Given the description of an element on the screen output the (x, y) to click on. 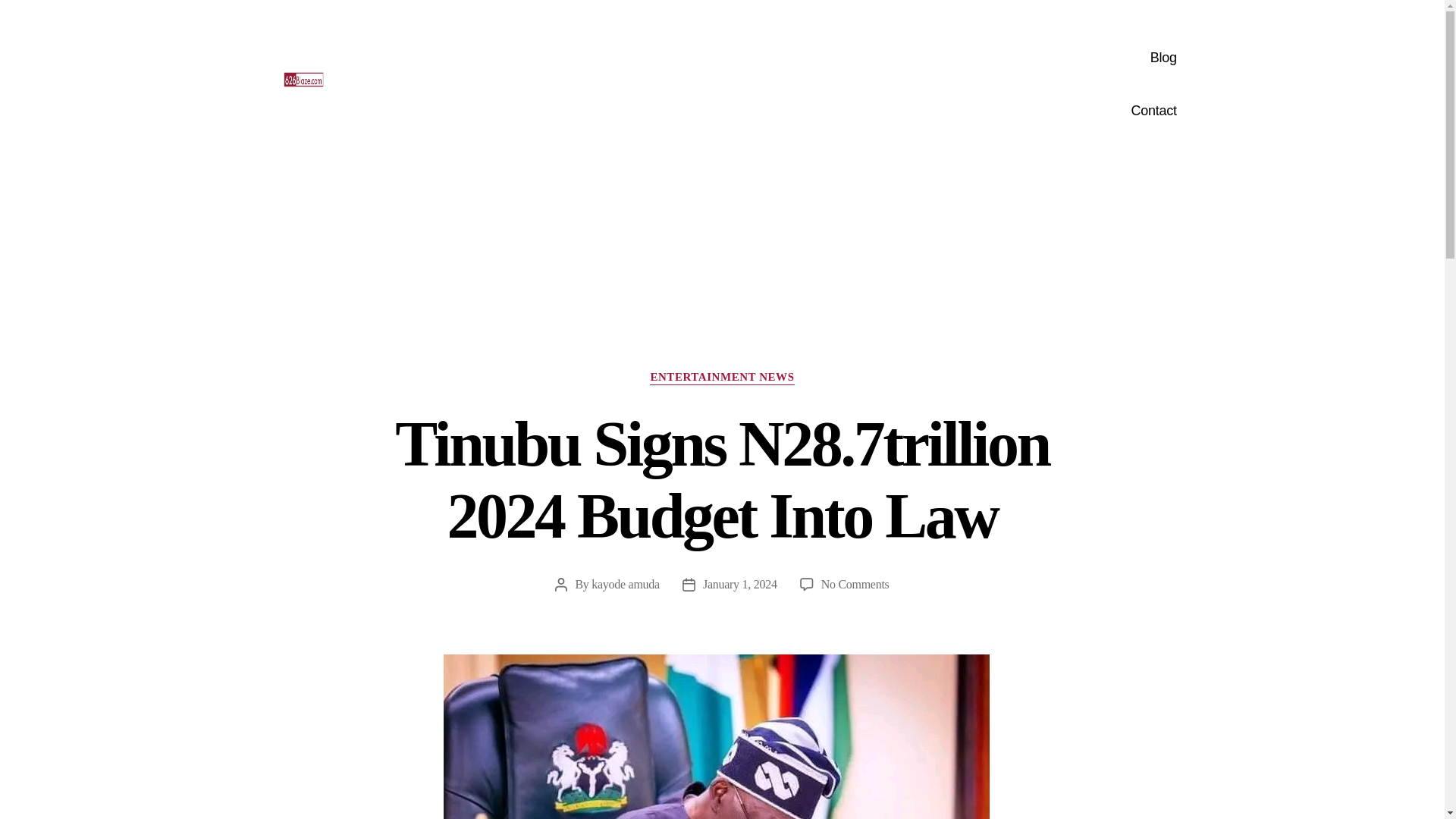
Contact (893, 110)
January 1, 2024 (740, 584)
kayode amuda (625, 584)
Blog (893, 57)
No Comments (855, 584)
ENTERTAINMENT NEWS (721, 377)
